Given the description of an element on the screen output the (x, y) to click on. 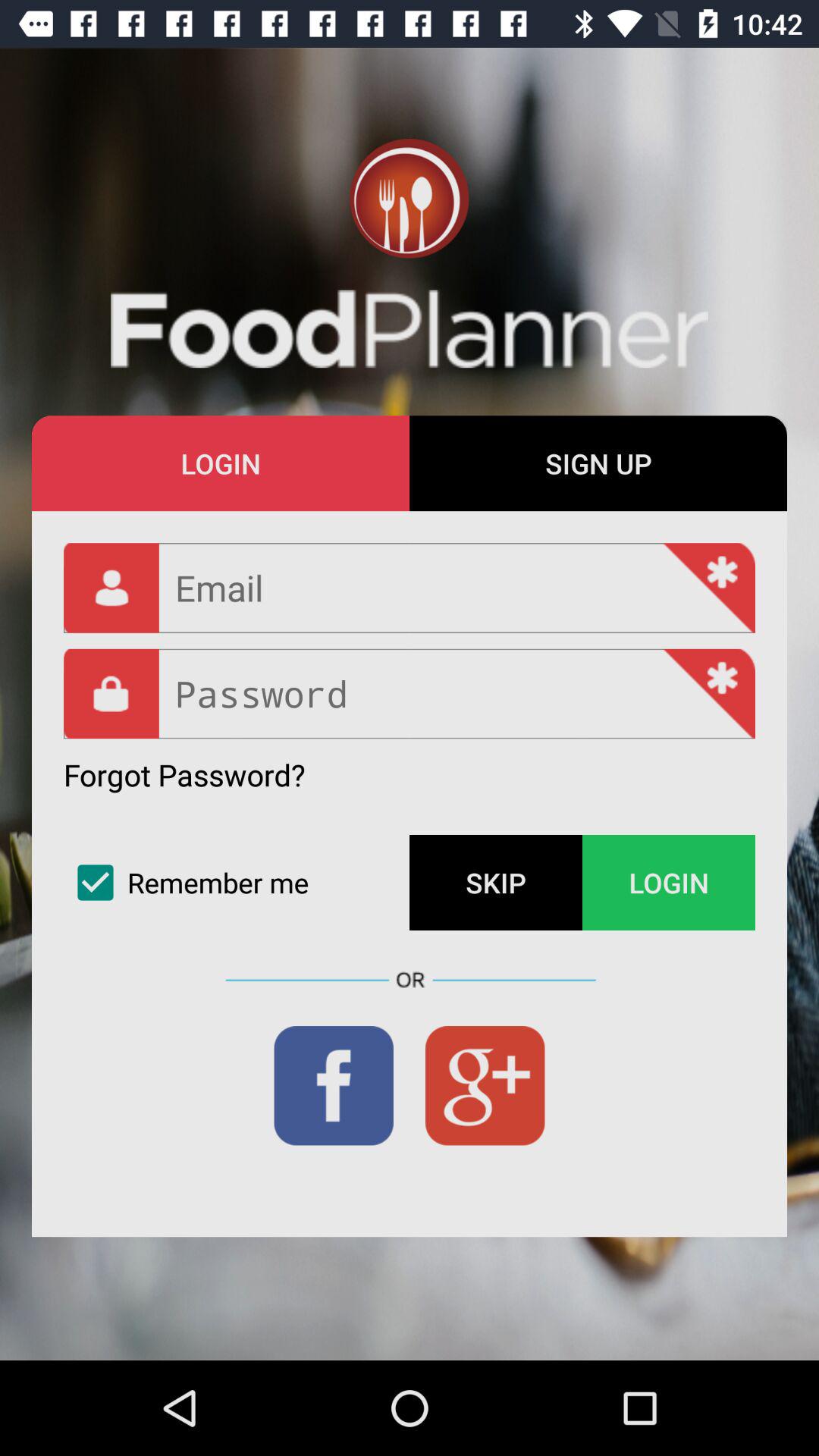
enter password (409, 693)
